Given the description of an element on the screen output the (x, y) to click on. 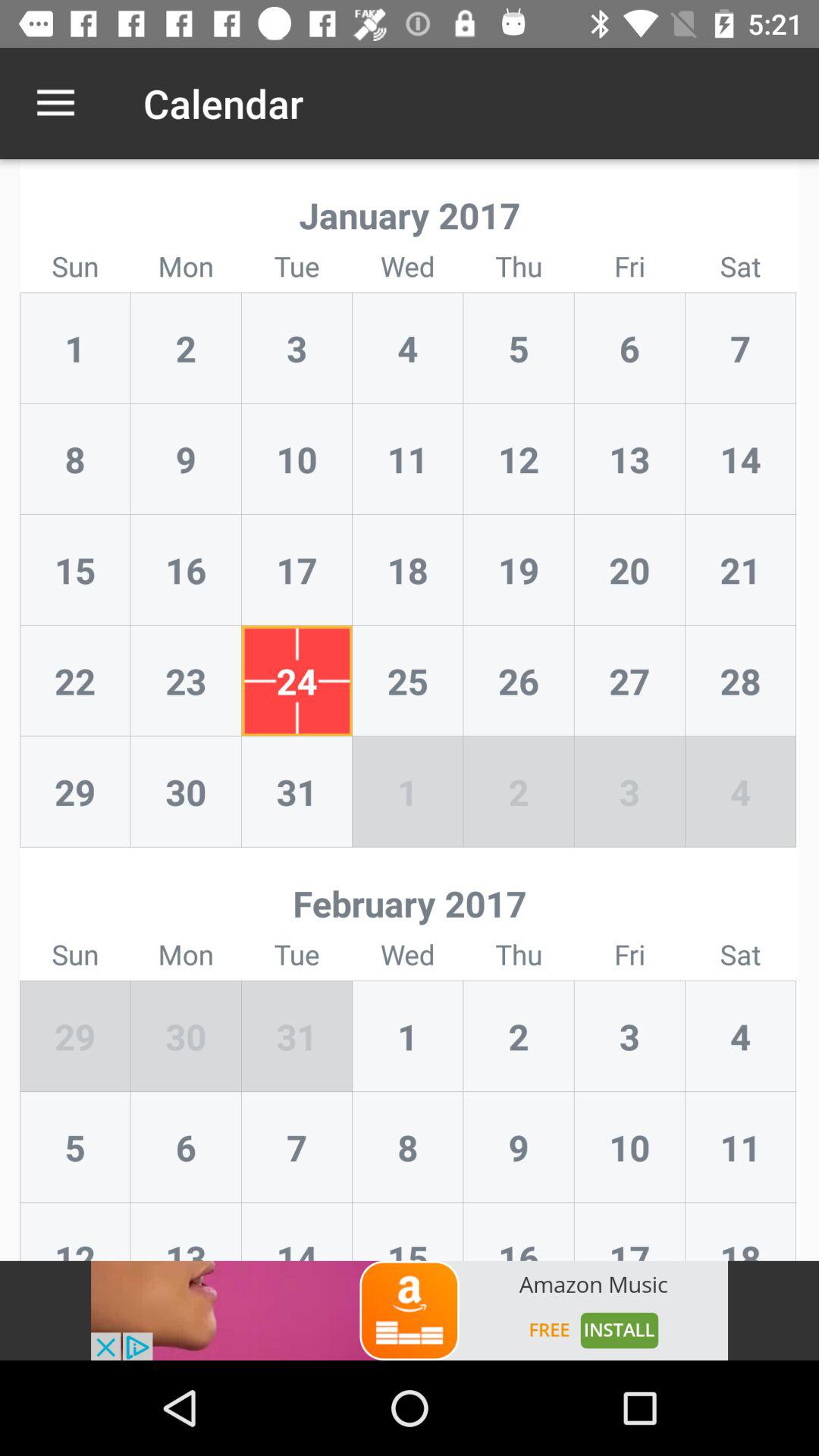
advertisement (409, 1310)
